Given the description of an element on the screen output the (x, y) to click on. 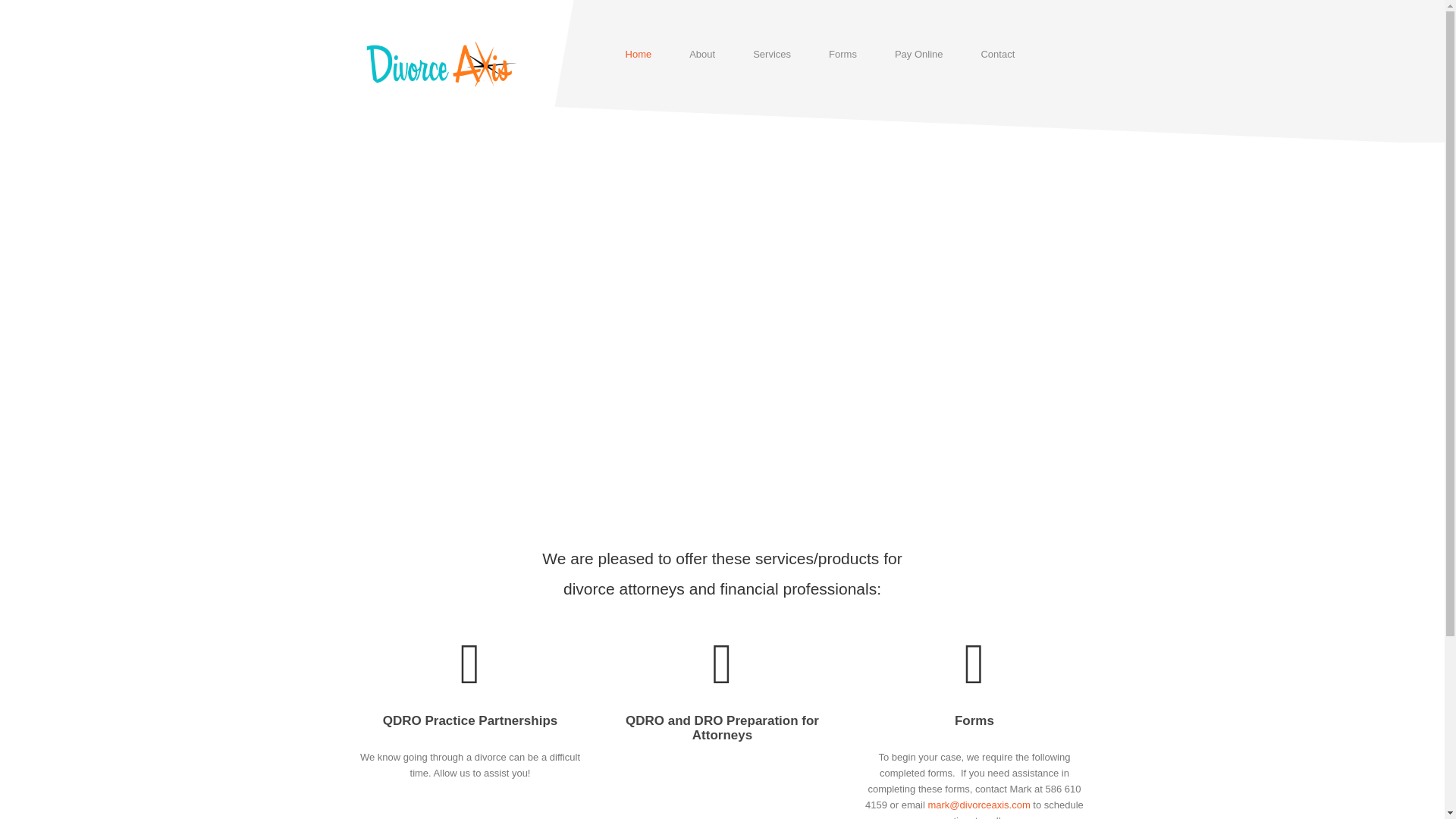
Forms (974, 720)
Pay Online (919, 57)
Services (771, 57)
Divorce Axis (440, 63)
